Given the description of an element on the screen output the (x, y) to click on. 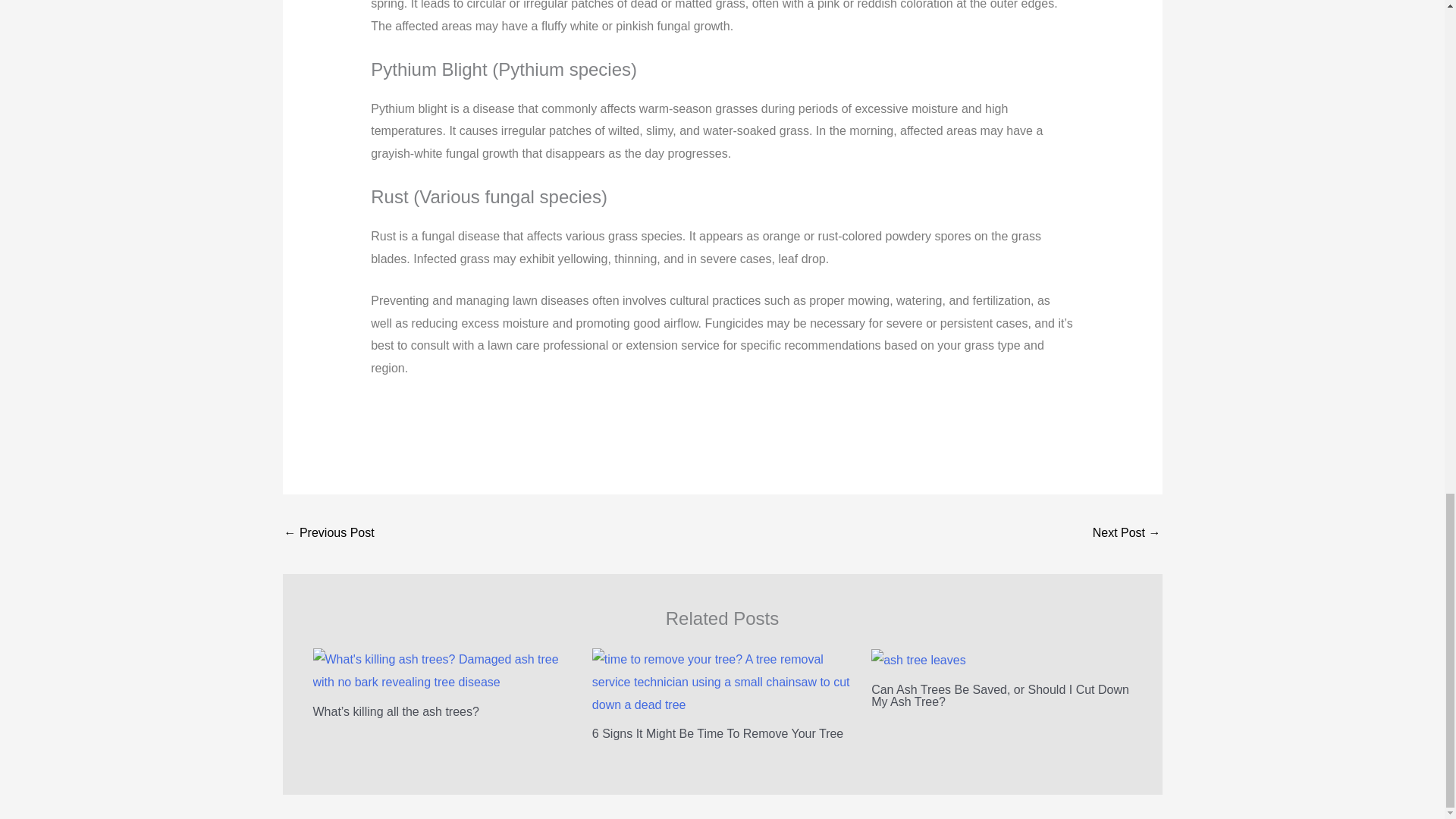
Can Ash Trees Be Saved, or Should I Cut Down My Ash Tree? (328, 533)
What is making my lawn brown? (1126, 533)
